Given the description of an element on the screen output the (x, y) to click on. 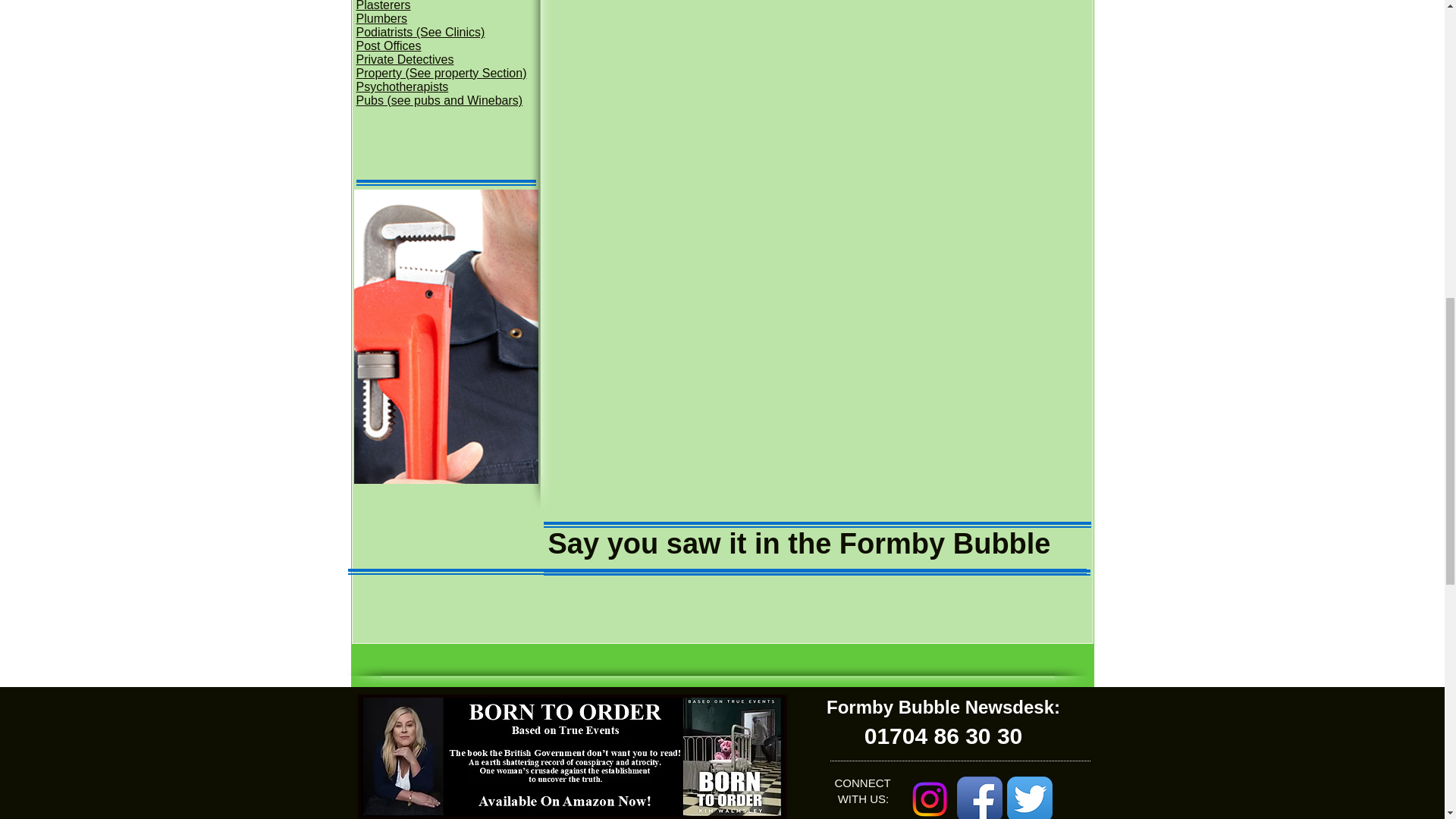
banner-master.jpg (572, 756)
